Given the description of an element on the screen output the (x, y) to click on. 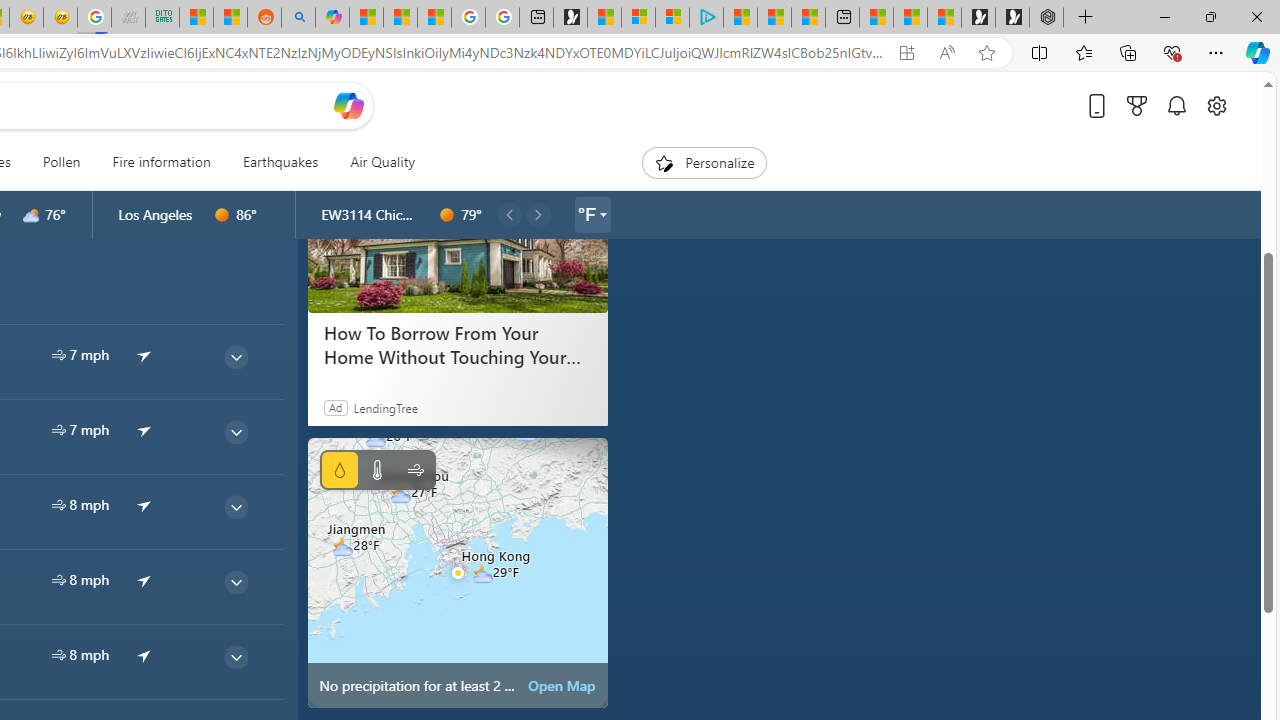
Class: miniMapRadarSVGView-DS-EntryPoint1-1 (457, 572)
common/carouselChevron (538, 214)
locationBar/triangle (602, 214)
Pollen (61, 162)
Air Quality (382, 162)
